Given the description of an element on the screen output the (x, y) to click on. 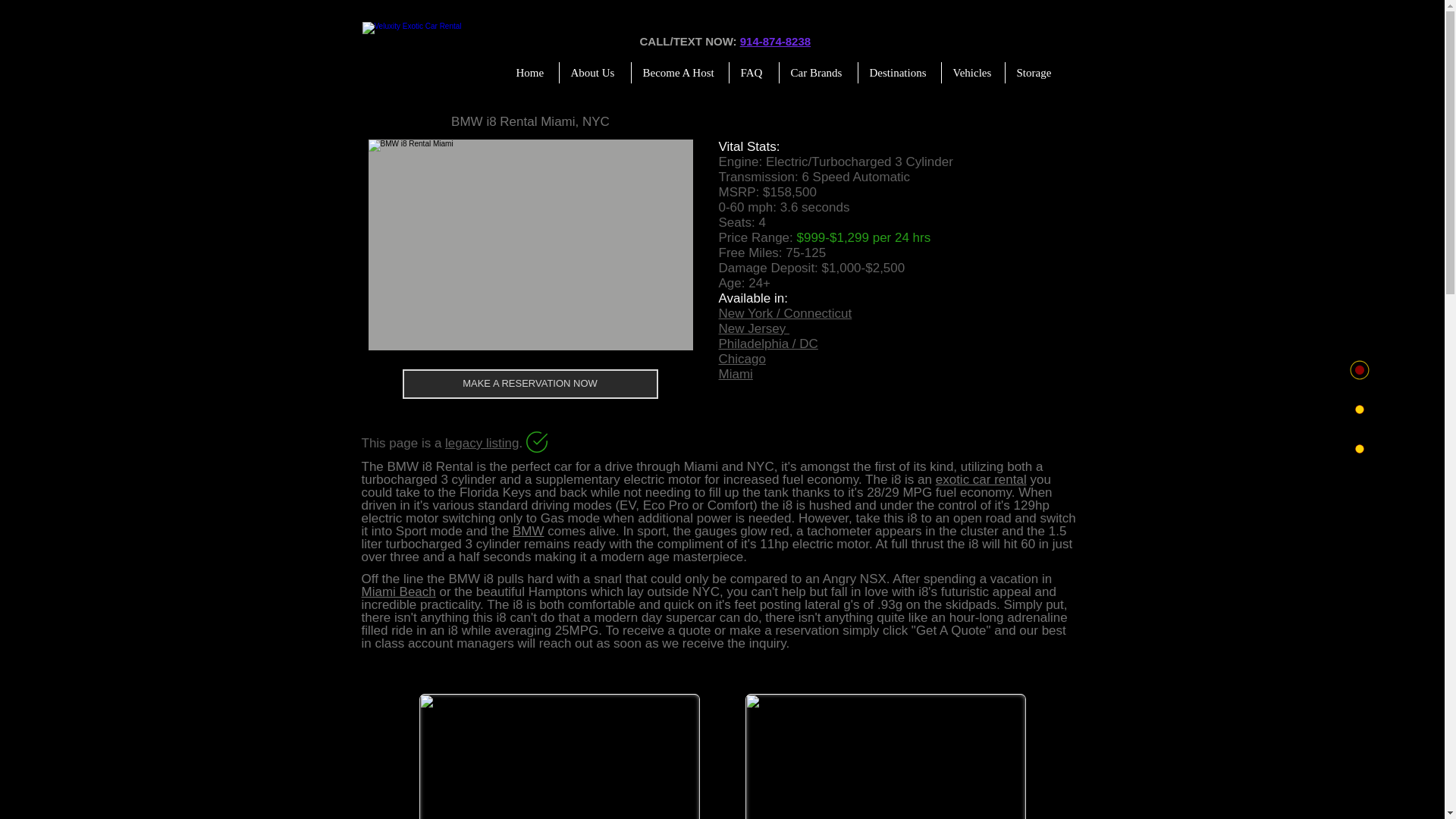
Vehicles (973, 72)
Miami (735, 373)
Car Brands (817, 72)
914-874-8238 (774, 41)
About Us (594, 72)
Chicago (742, 359)
Destinations (899, 72)
Become A Host (679, 72)
FAQ (753, 72)
MAKE A RESERVATION NOW (529, 383)
